Given the description of an element on the screen output the (x, y) to click on. 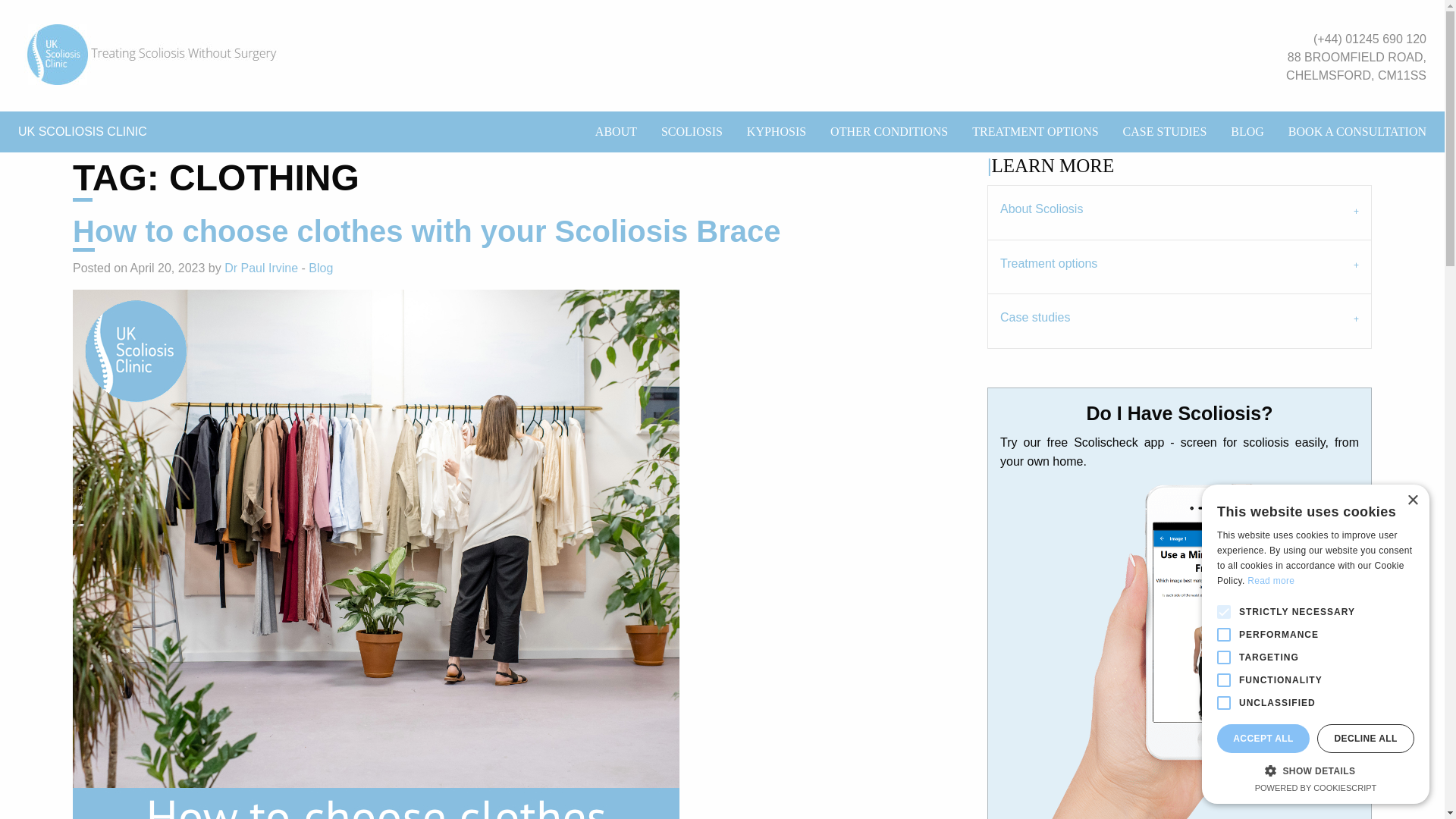
Consent Management Platform (1316, 787)
How to choose clothes with your Scoliosis Brace (426, 232)
Posts by Dr Paul Irvine (261, 267)
ABOUT (616, 131)
UK SCOLIOSIS CLINIC (81, 131)
